Given the description of an element on the screen output the (x, y) to click on. 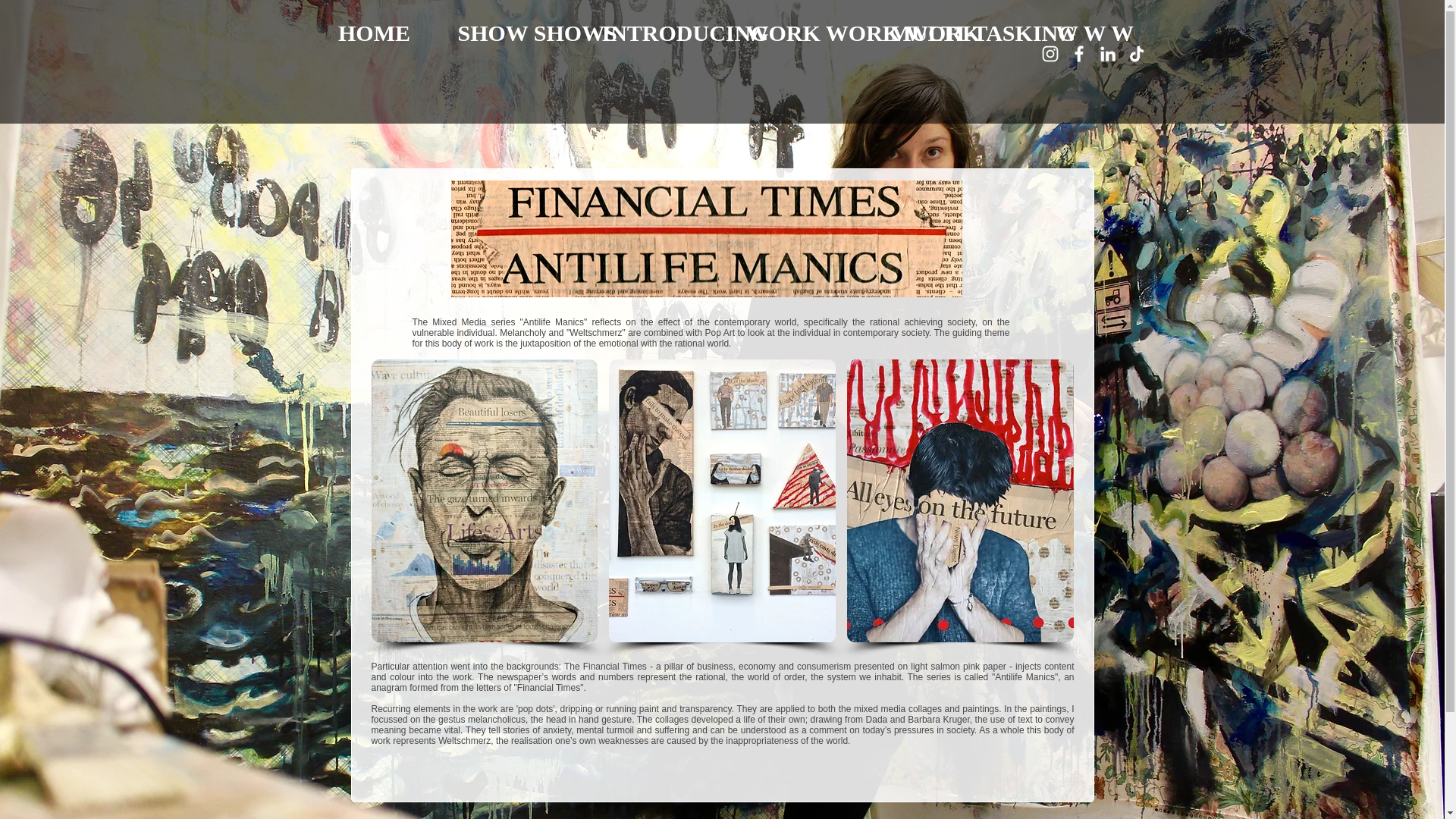
HOME (373, 32)
INTRODUCING (661, 32)
SHOW SHOWS (517, 32)
